Given the description of an element on the screen output the (x, y) to click on. 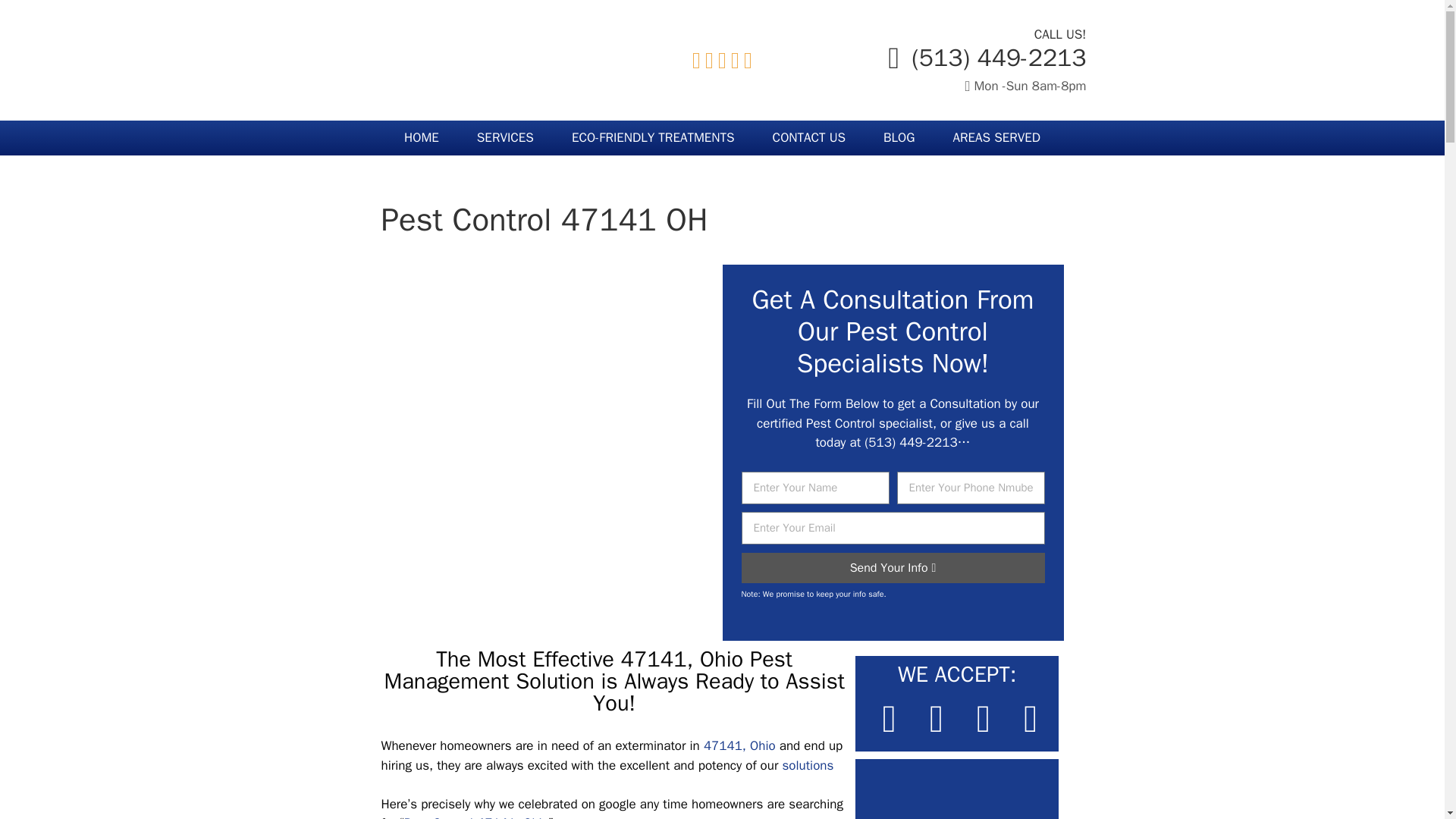
SERVICES (505, 137)
CONTACT US (809, 137)
ECO-FRIENDLY TREATMENTS (653, 137)
AREAS SERVED (996, 137)
BLOG (898, 137)
HOME (421, 137)
